Given the description of an element on the screen output the (x, y) to click on. 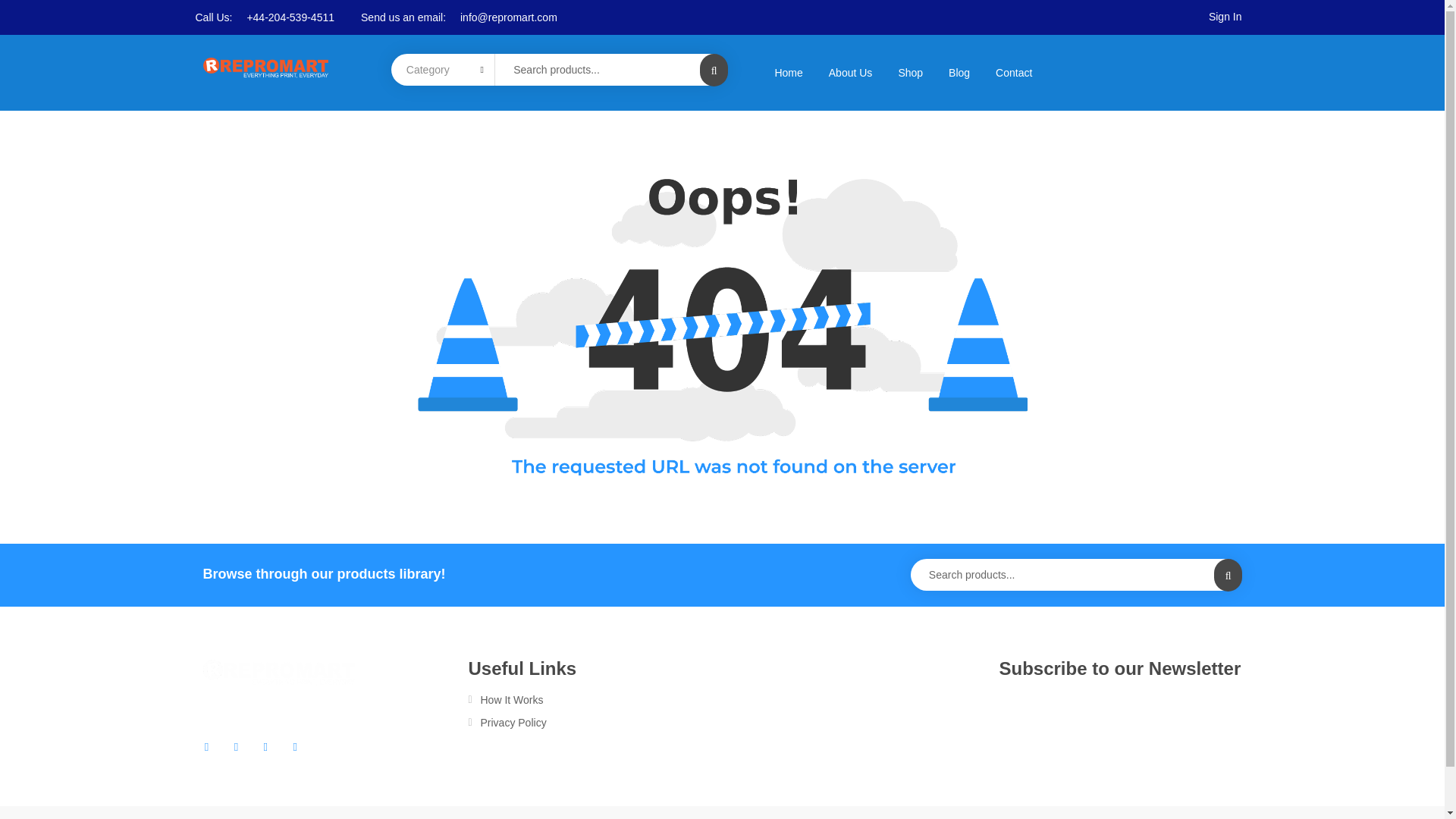
Contact (1013, 72)
How It Works (593, 699)
Sign In (1224, 16)
Register (780, 564)
Blog (959, 72)
Log in (445, 503)
Home (788, 72)
Shop (910, 72)
About Us (850, 72)
Privacy Policy (593, 722)
